Given the description of an element on the screen output the (x, y) to click on. 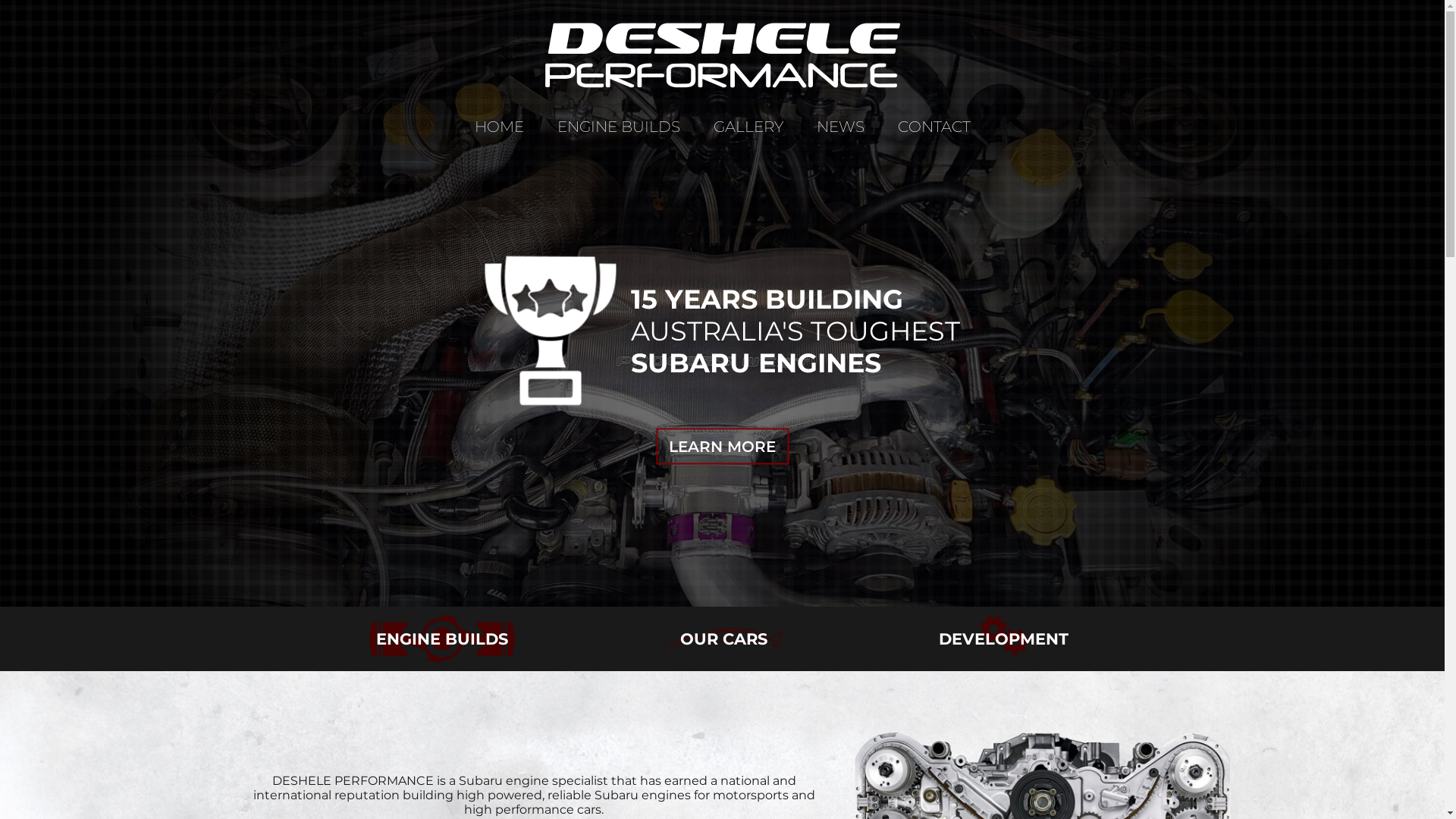
OUR CARS Element type: text (722, 640)
HOME Element type: text (498, 126)
ENGINE BUILDS Element type: text (618, 126)
DEVELOPMENT Element type: text (1003, 640)
GALLERY Element type: text (748, 126)
CONTACT Element type: text (933, 126)
ENGINE BUILDS Element type: text (441, 640)
NEWS Element type: text (840, 126)
